Given the description of an element on the screen output the (x, y) to click on. 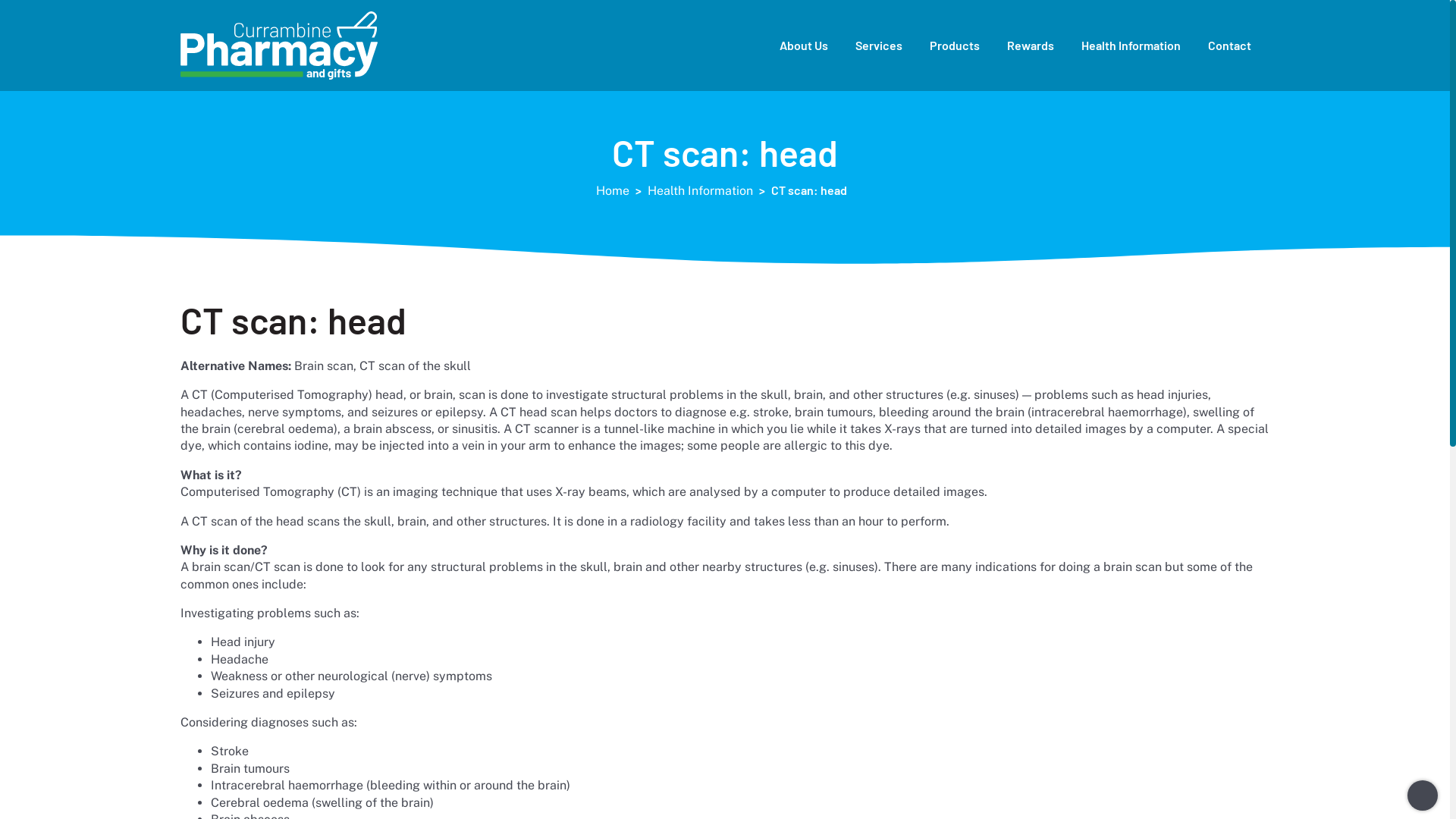
About Us Element type: text (803, 45)
Contact Element type: text (1229, 45)
Home Element type: text (614, 190)
Health Information Element type: text (701, 190)
Health Information Element type: text (1130, 45)
Services Element type: text (878, 45)
Products Element type: text (954, 45)
Rewards Element type: text (1030, 45)
